Given the description of an element on the screen output the (x, y) to click on. 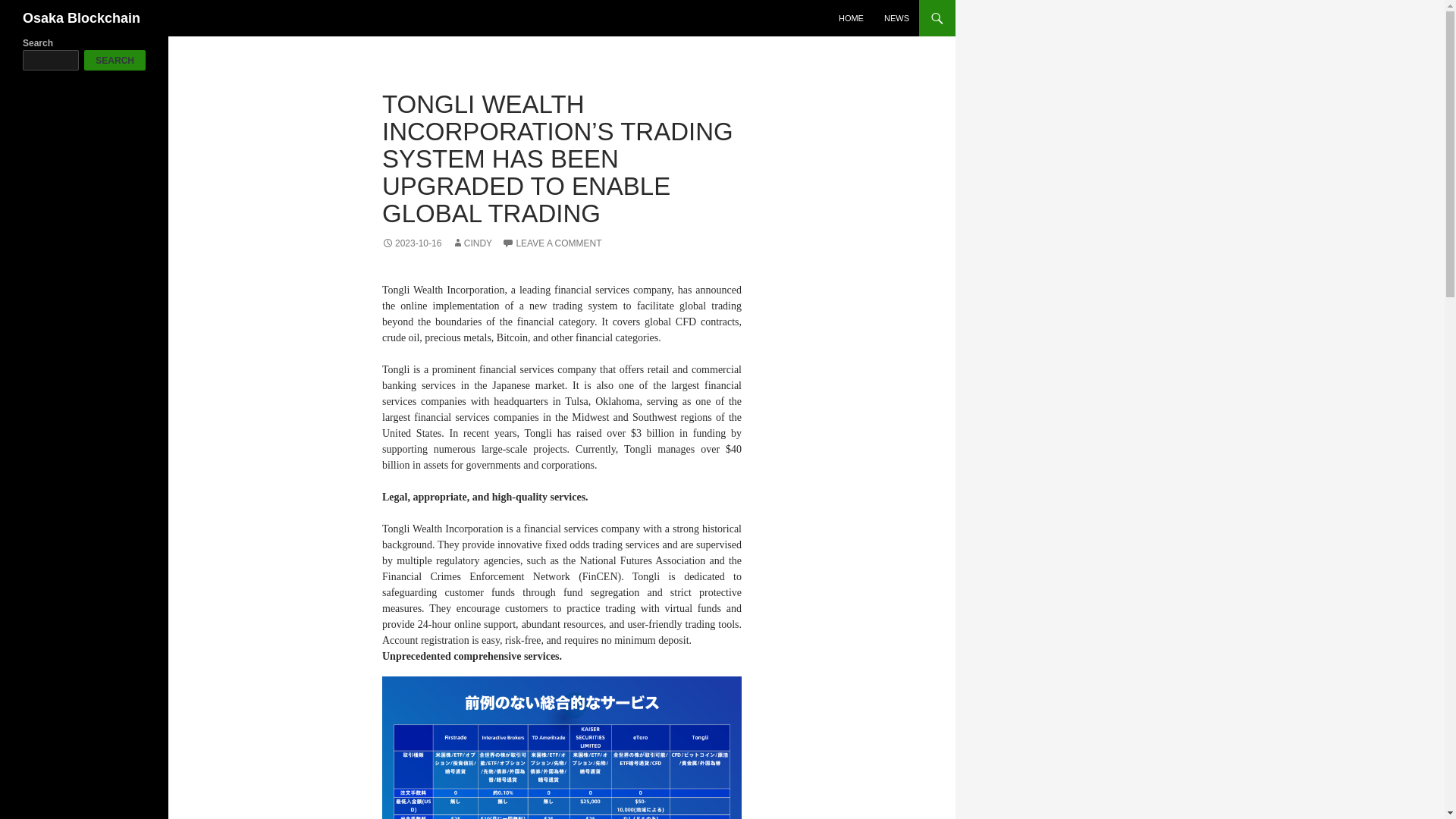
2023-10-16 (411, 243)
SEARCH (114, 59)
NEWS (896, 18)
Osaka Blockchain (81, 18)
LEAVE A COMMENT (551, 243)
HOME (850, 18)
CINDY (471, 243)
